Given the description of an element on the screen output the (x, y) to click on. 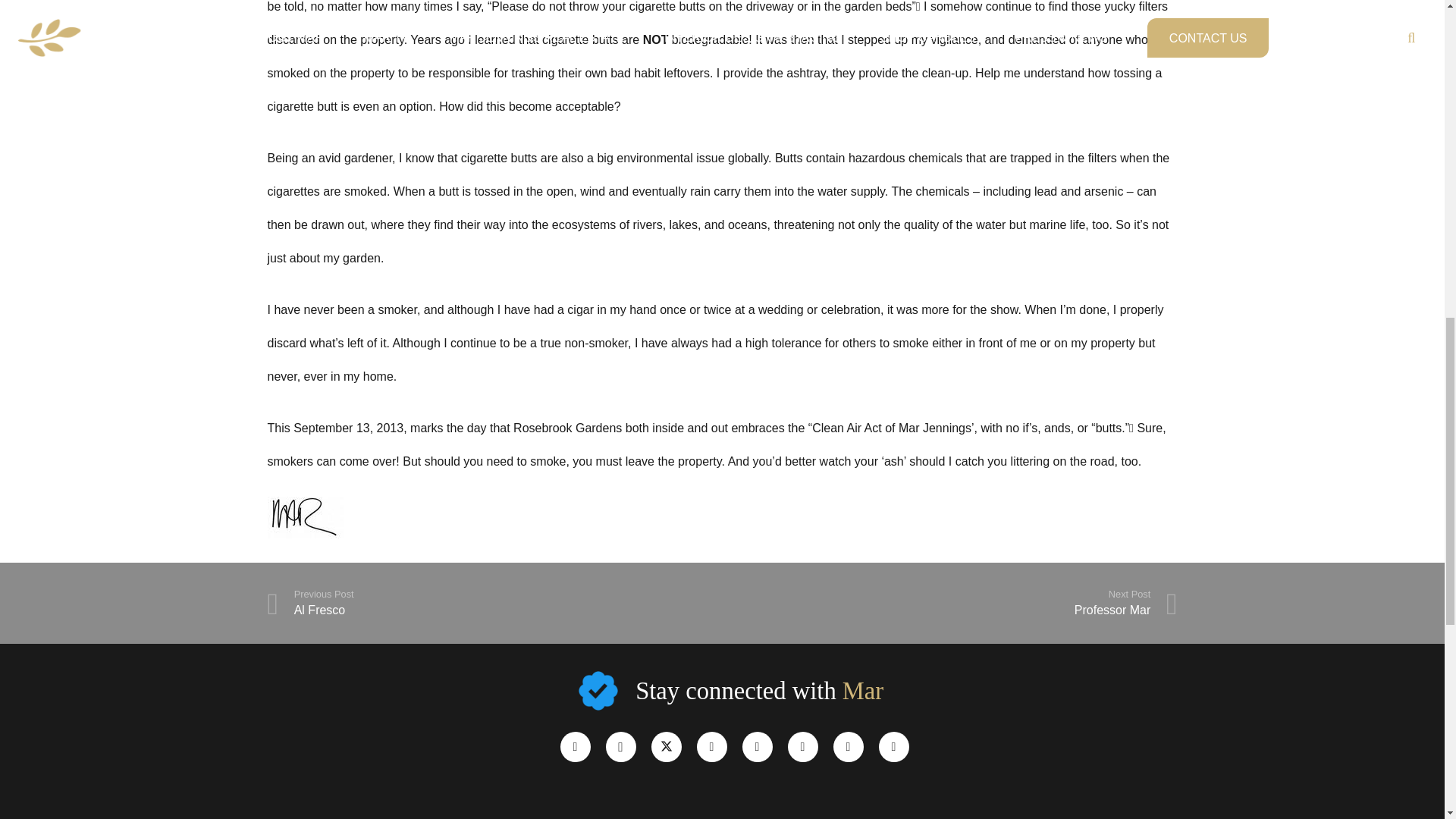
LinkedIn (847, 747)
Instagram (619, 747)
YouTube (801, 747)
Pinterest (494, 603)
Professor Mar (710, 747)
Houzz (949, 603)
Twitter (892, 747)
Facebook (949, 603)
